Given the description of an element on the screen output the (x, y) to click on. 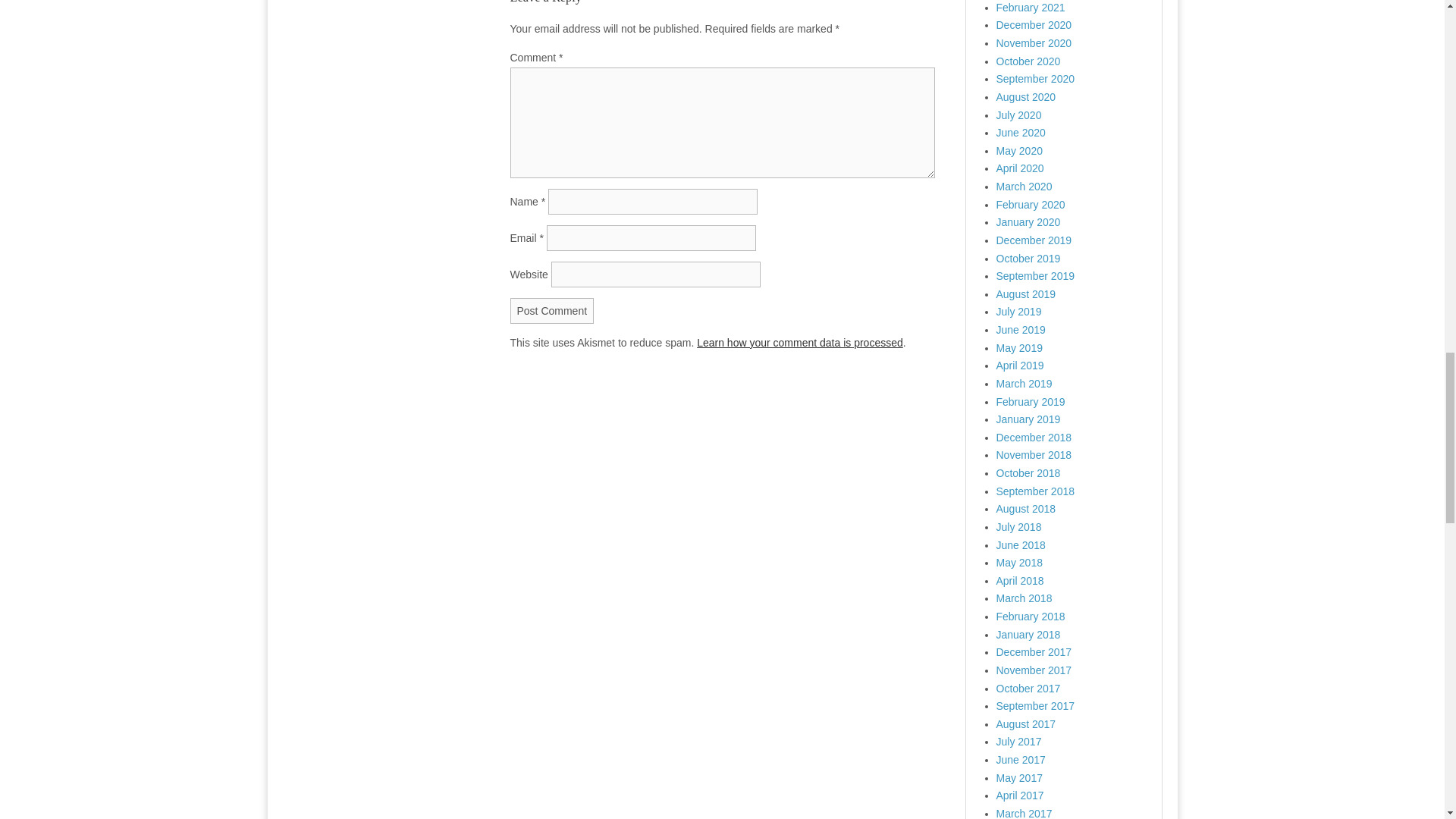
Post Comment (551, 310)
Learn how your comment data is processed (799, 342)
Post Comment (551, 310)
